Given the description of an element on the screen output the (x, y) to click on. 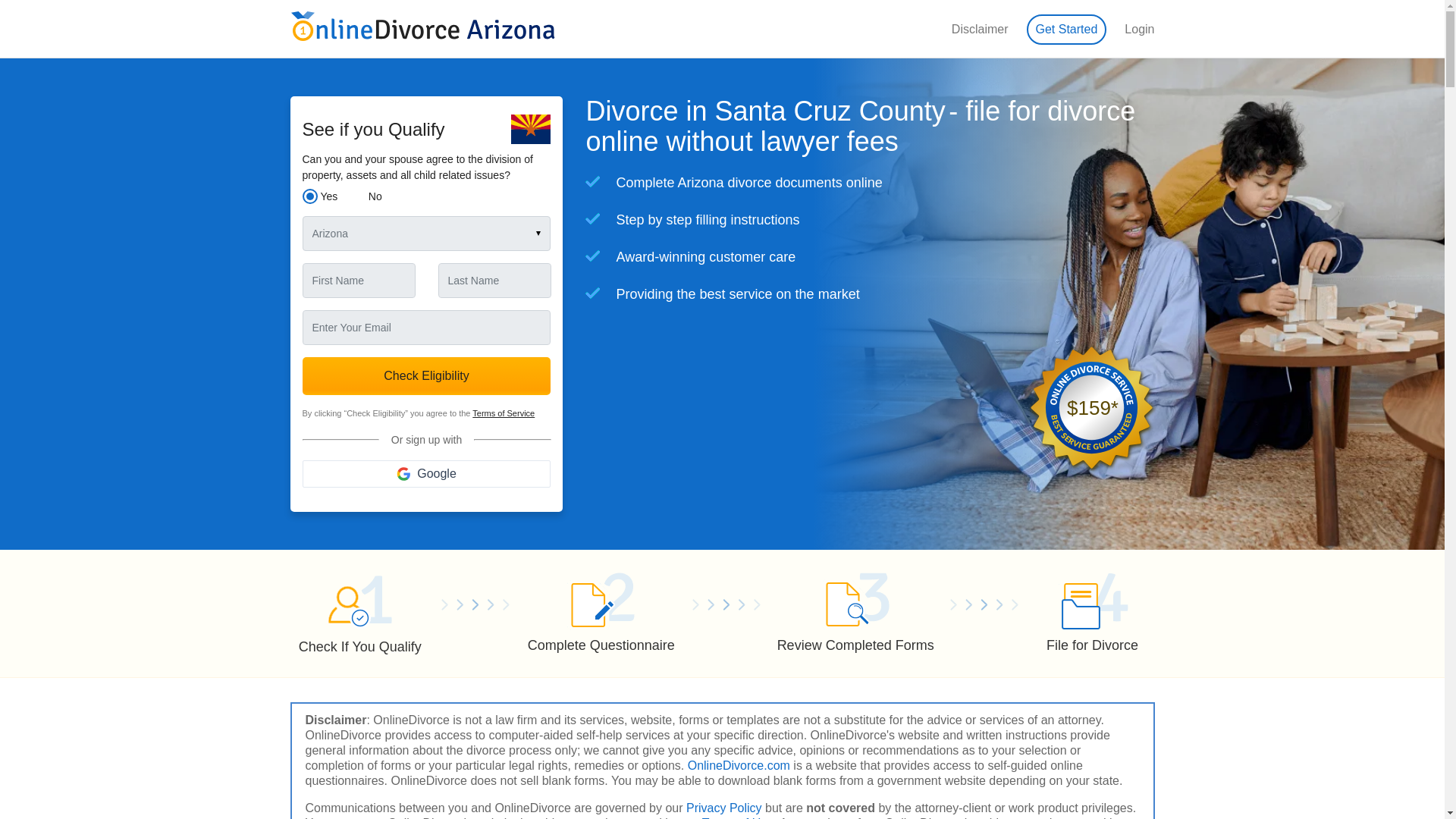
Check Eligibility (425, 375)
Terms of Service (502, 412)
Online Divorce in Arizona (422, 27)
OnlineDivorce.com (738, 765)
Disclaimer (980, 29)
Get Started (1066, 28)
Google (425, 472)
Terms of Use (737, 817)
Privacy Policy (723, 807)
Login (1139, 29)
